Given the description of an element on the screen output the (x, y) to click on. 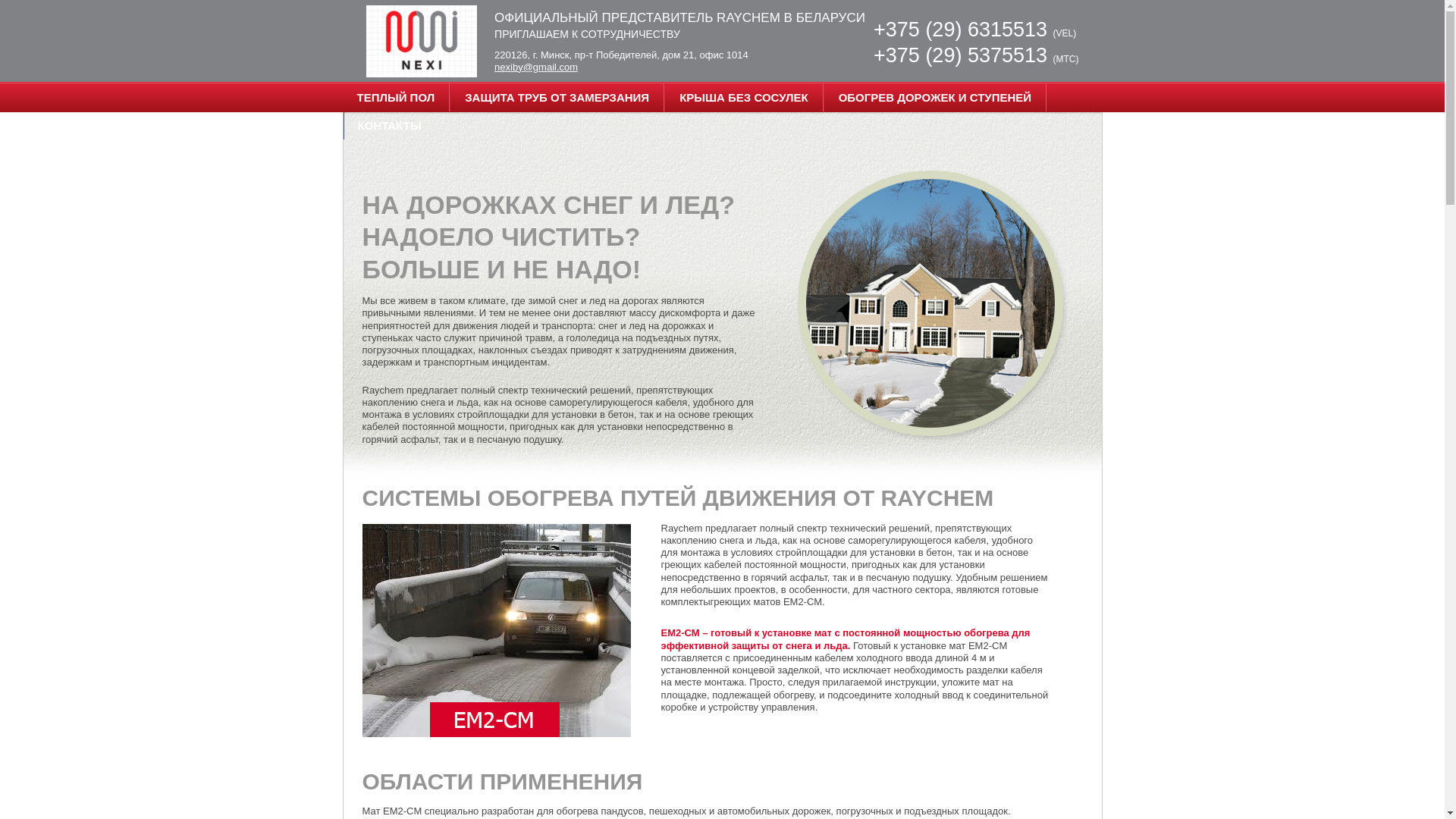
nexiby@gmail.com Element type: text (535, 66)
